Given the description of an element on the screen output the (x, y) to click on. 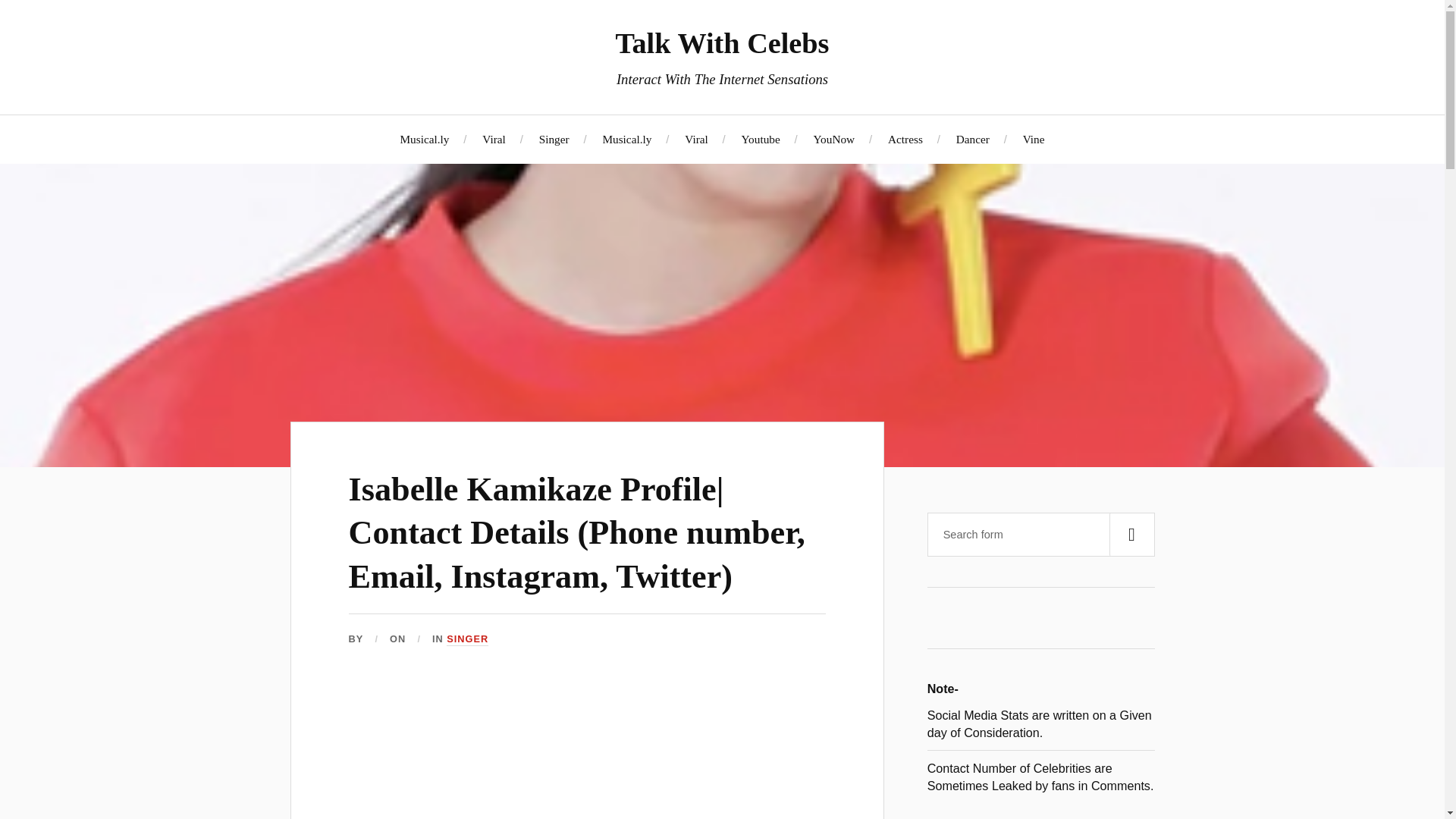
Musical.ly (626, 138)
Advertisement (587, 753)
SINGER (466, 639)
Talk With Celebs (721, 42)
Musical.ly (423, 138)
